Given the description of an element on the screen output the (x, y) to click on. 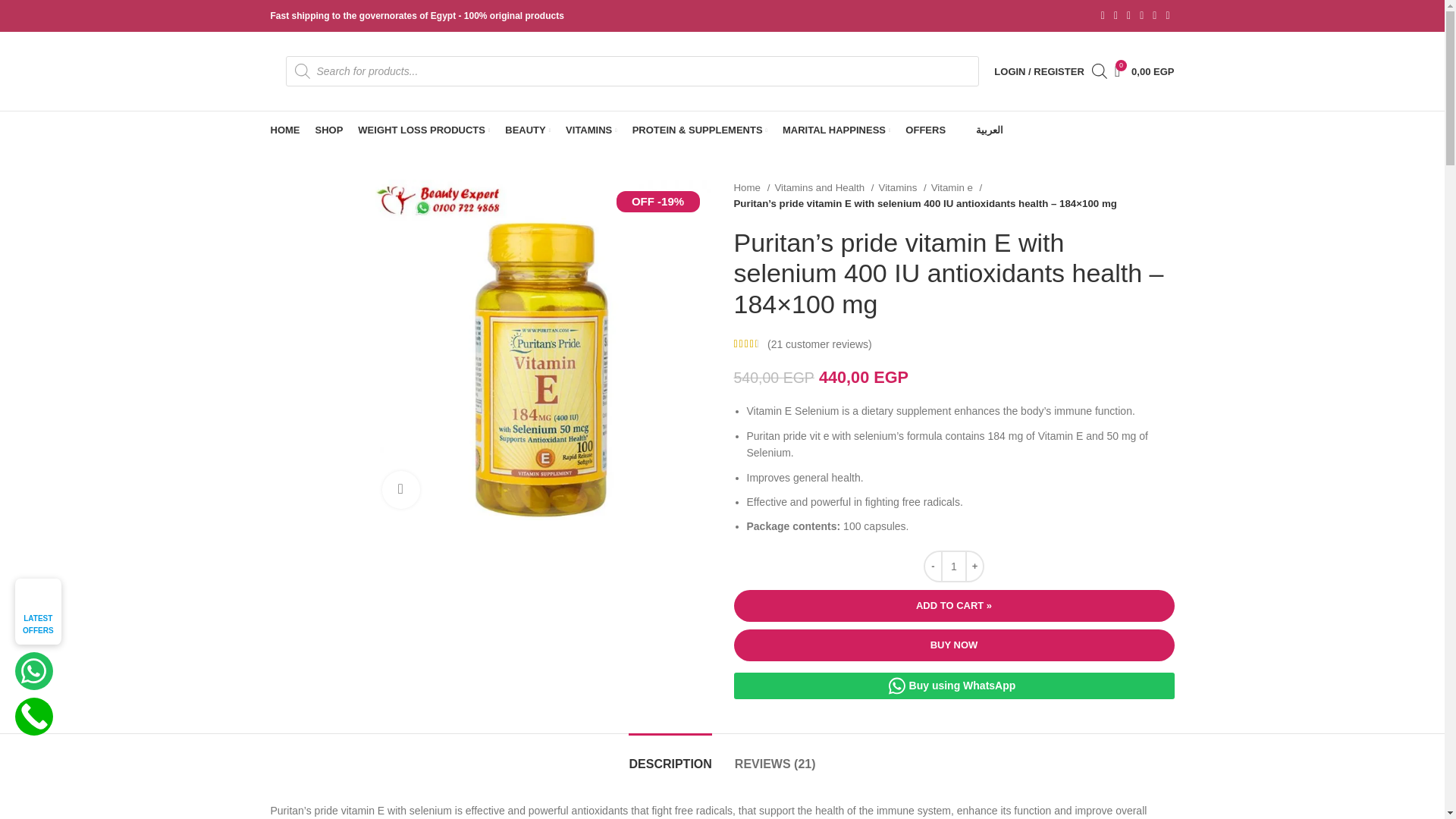
HOME (284, 130)
puritan's pride vitamin e with selenium (539, 349)
Log in (959, 312)
Shopping cart (1144, 71)
SHOP (329, 130)
BEAUTY (1144, 71)
My account (527, 130)
WEIGHT LOSS PRODUCTS (1038, 71)
